Given the description of an element on the screen output the (x, y) to click on. 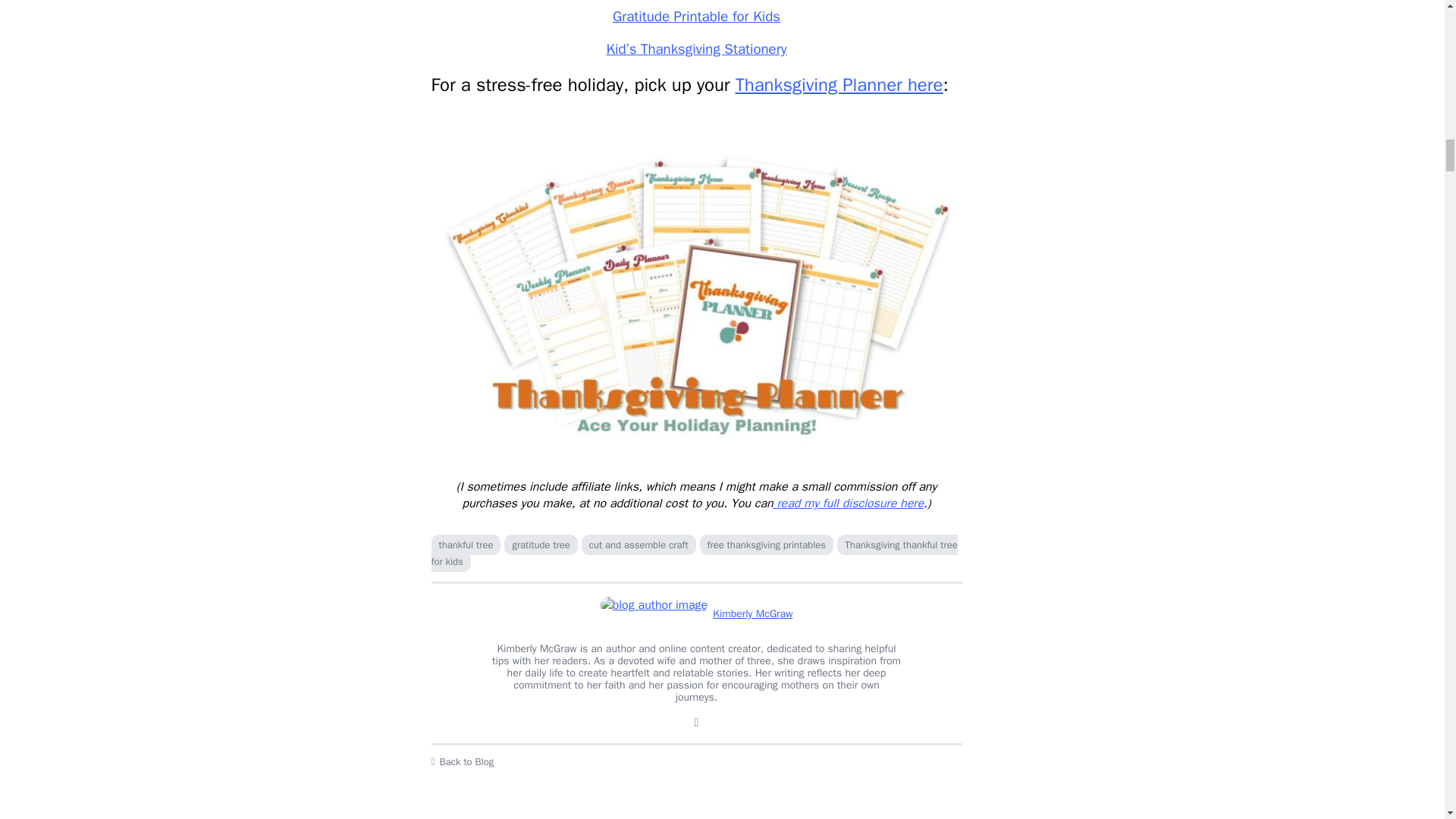
Back to Blog (695, 762)
read my full disclosure here (848, 503)
Gratitude Printable for Kids (696, 16)
Thanksgiving Planner here (839, 84)
Kimberly McGraw (696, 614)
